Given the description of an element on the screen output the (x, y) to click on. 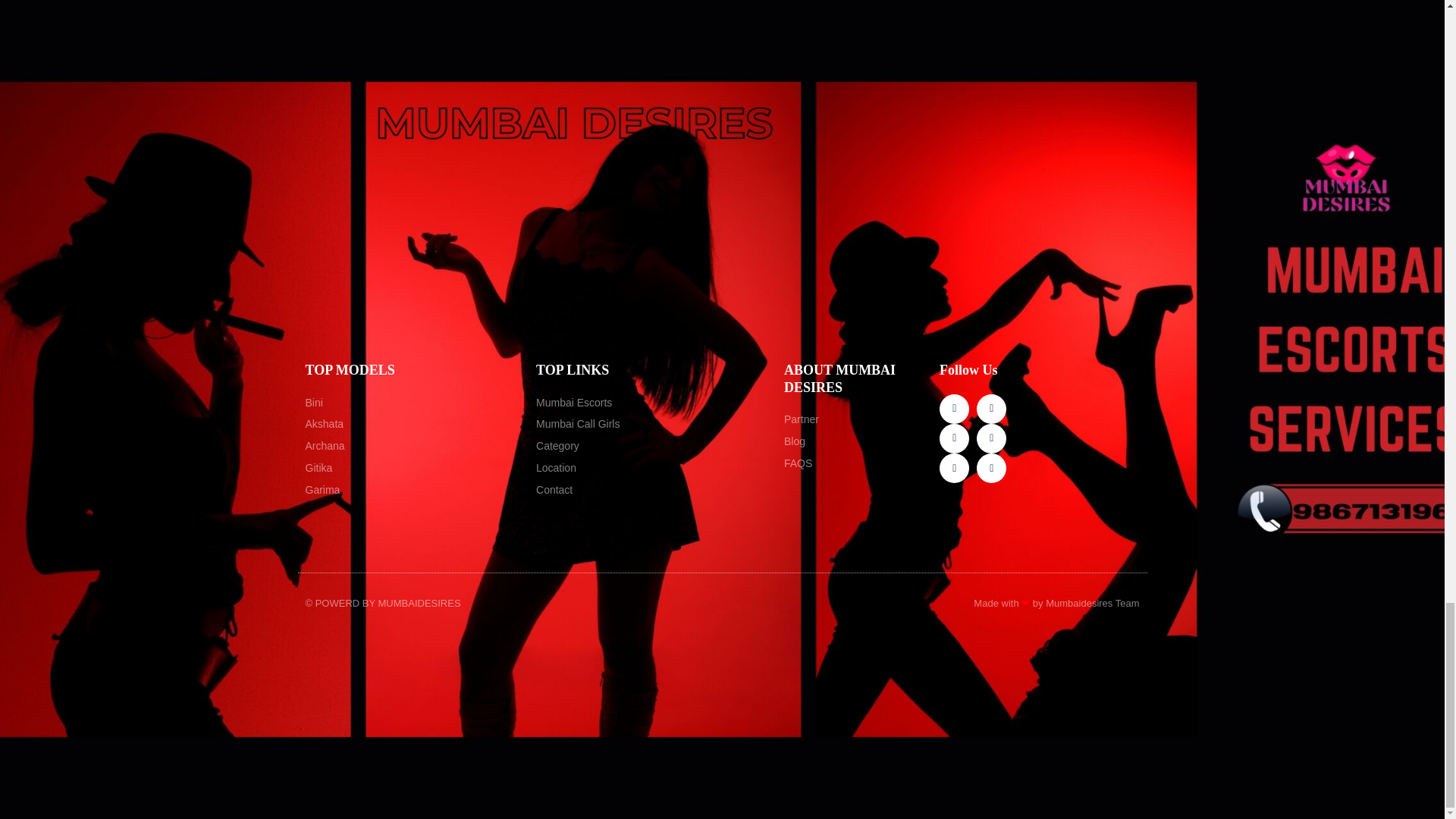
Gitika (412, 468)
Archana (412, 446)
Mumbai Escorts (651, 402)
Contact (651, 490)
Garima (412, 490)
Mumbai Call Girls (651, 424)
Location (651, 468)
Category (651, 446)
Bini (412, 402)
Akshata (412, 424)
